Given the description of an element on the screen output the (x, y) to click on. 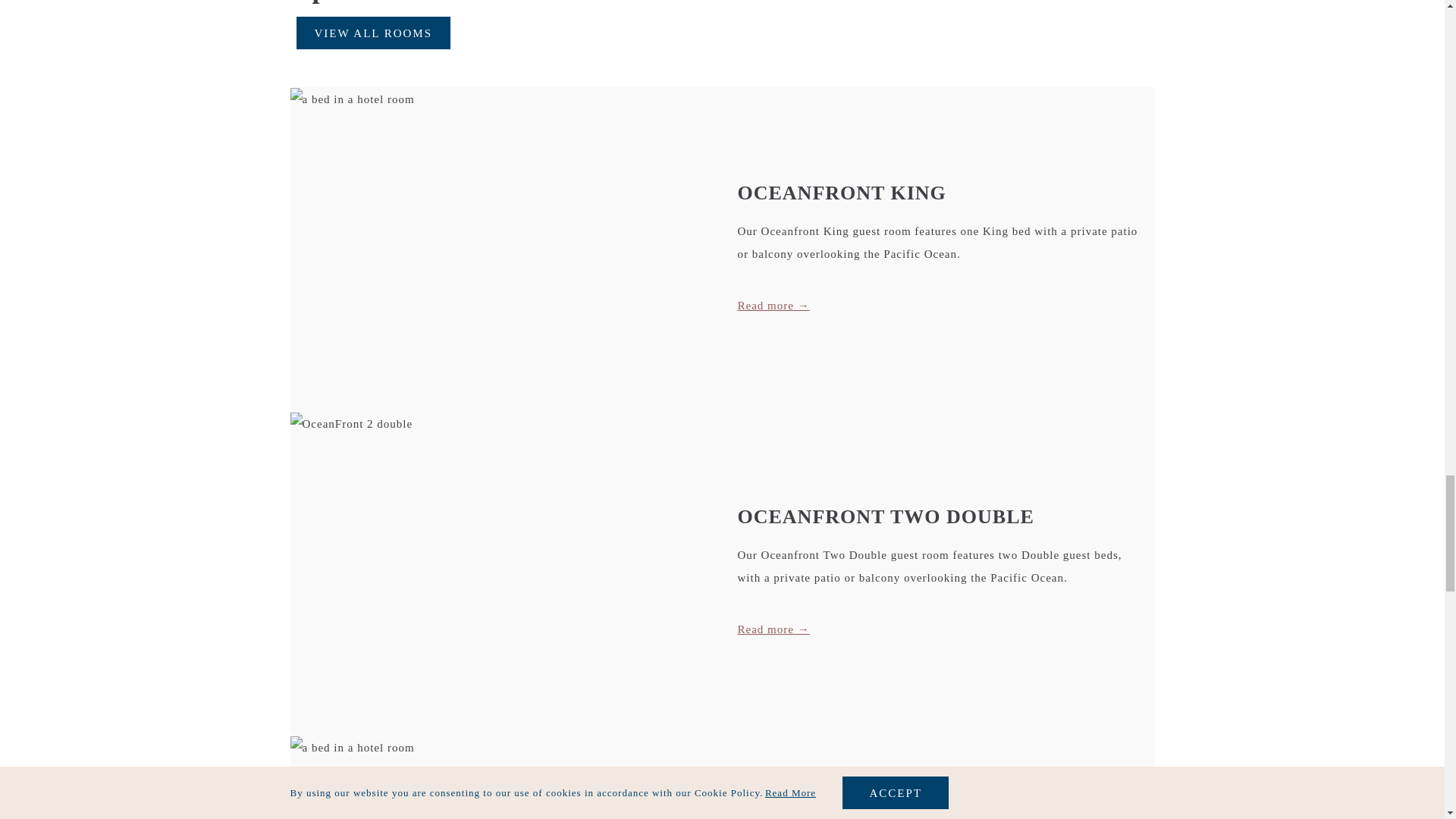
Read more (772, 305)
Read more (772, 629)
VIEW ALL ROOMS (372, 32)
